Given the description of an element on the screen output the (x, y) to click on. 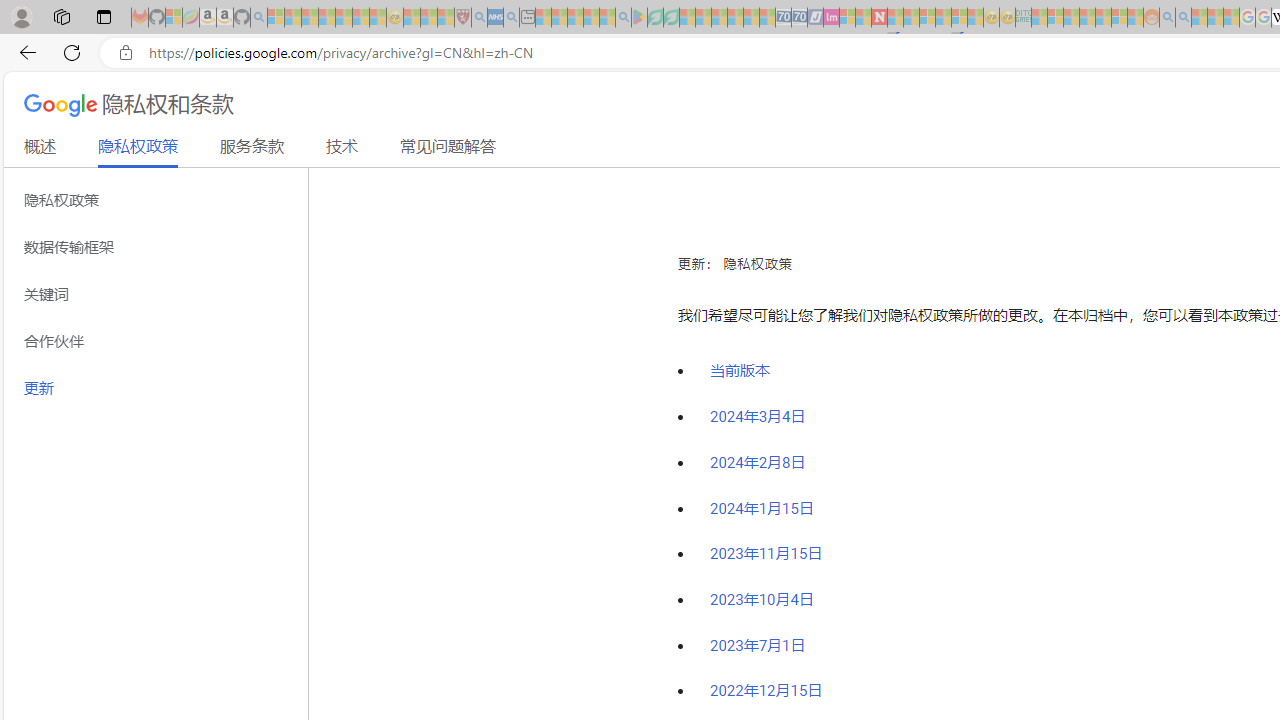
Microsoft account | Privacy - Sleeping (1055, 17)
New Report Confirms 2023 Was Record Hot | Watch - Sleeping (343, 17)
14 Common Myths Debunked By Scientific Facts - Sleeping (911, 17)
Recipes - MSN - Sleeping (411, 17)
utah sues federal government - Search - Sleeping (511, 17)
